Given the description of an element on the screen output the (x, y) to click on. 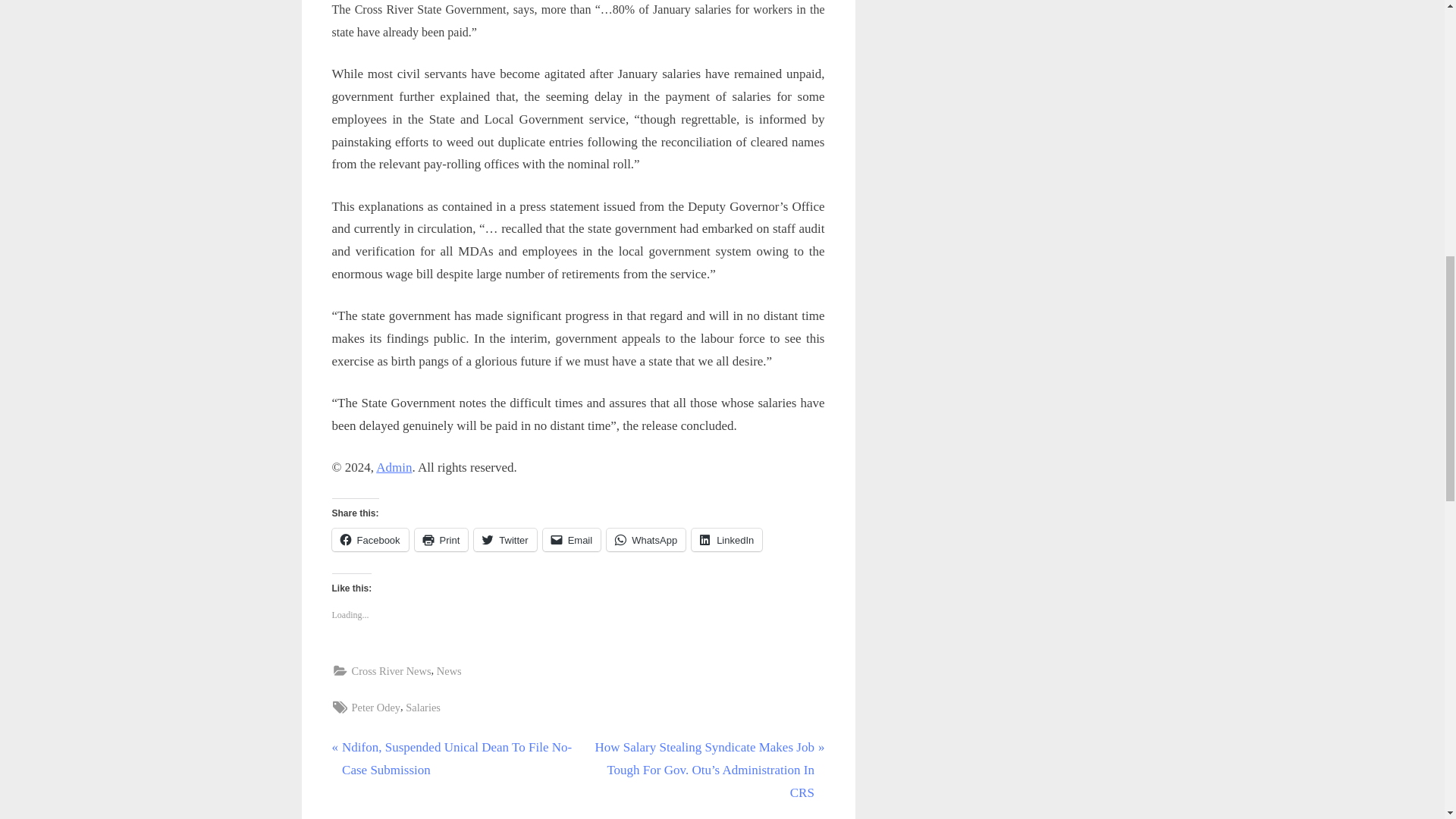
Click to share on LinkedIn (726, 539)
Click to share on Facebook (370, 539)
Click to email a link to a friend (572, 539)
Click to share on WhatsApp (646, 539)
Click to share on Twitter (504, 539)
Click to print (441, 539)
